Given the description of an element on the screen output the (x, y) to click on. 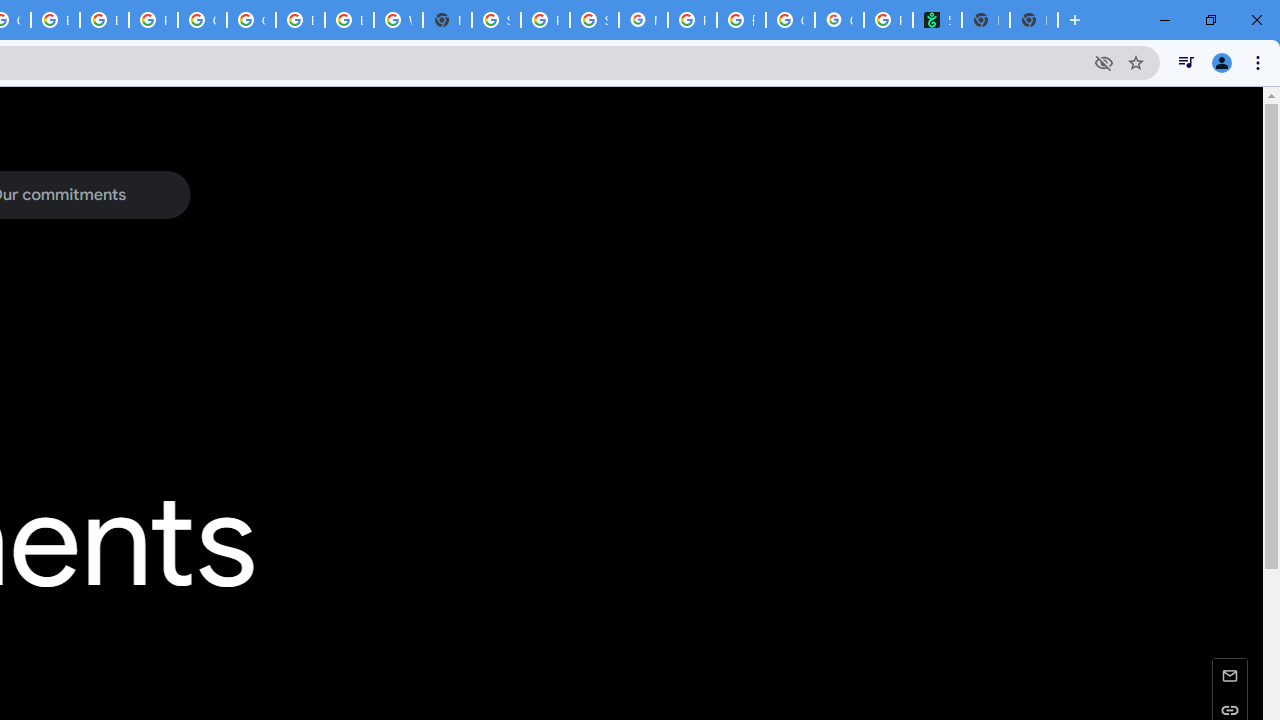
Browse Chrome as a guest - Computer - Google Chrome Help (349, 20)
Browse Chrome as a guest - Computer - Google Chrome Help (104, 20)
Google Cloud Platform (201, 20)
New Tab (1033, 20)
